Given the description of an element on the screen output the (x, y) to click on. 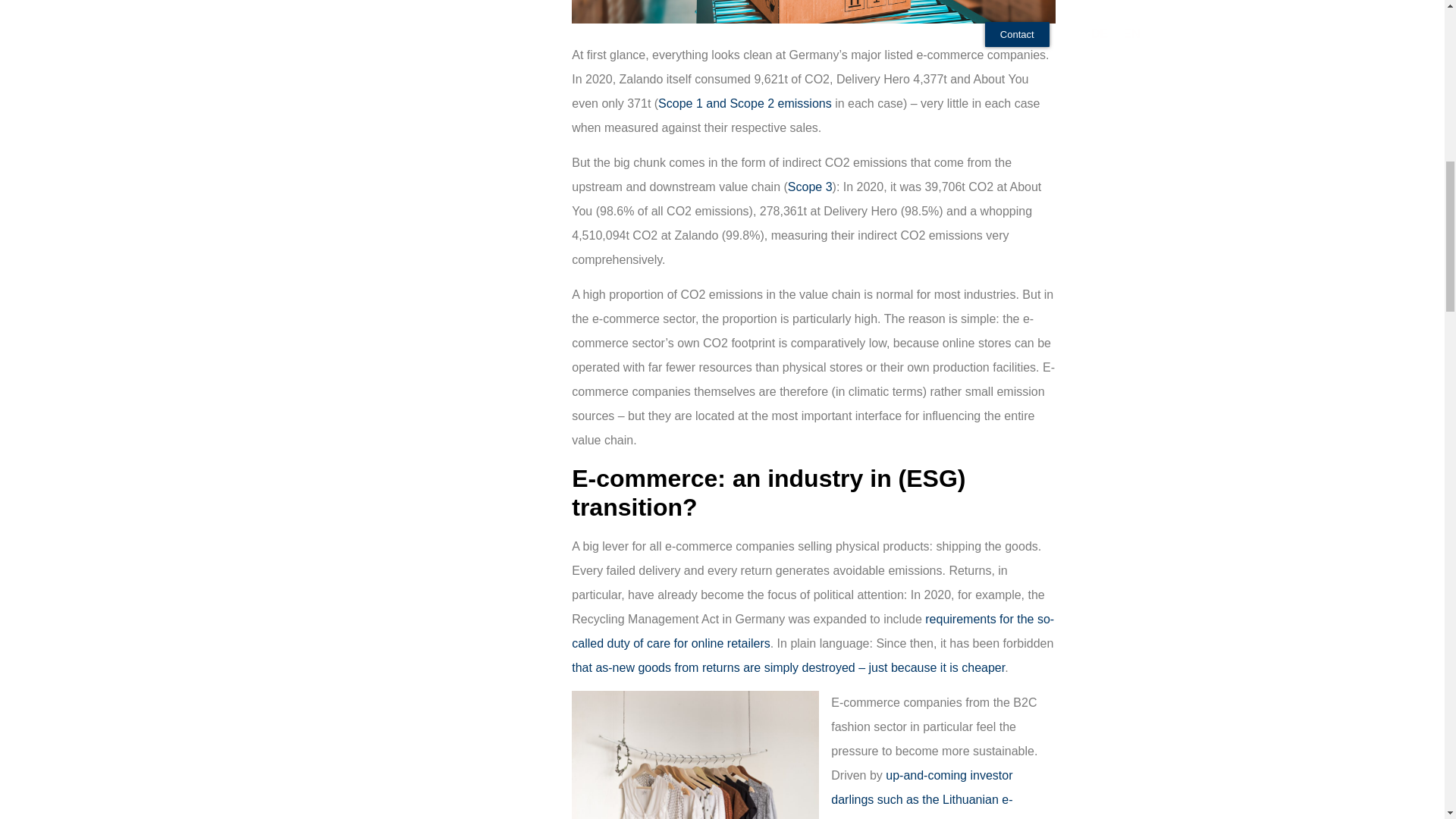
Scope 1 and Scope 2 emissions (744, 103)
Scope 3 (809, 186)
